Given the description of an element on the screen output the (x, y) to click on. 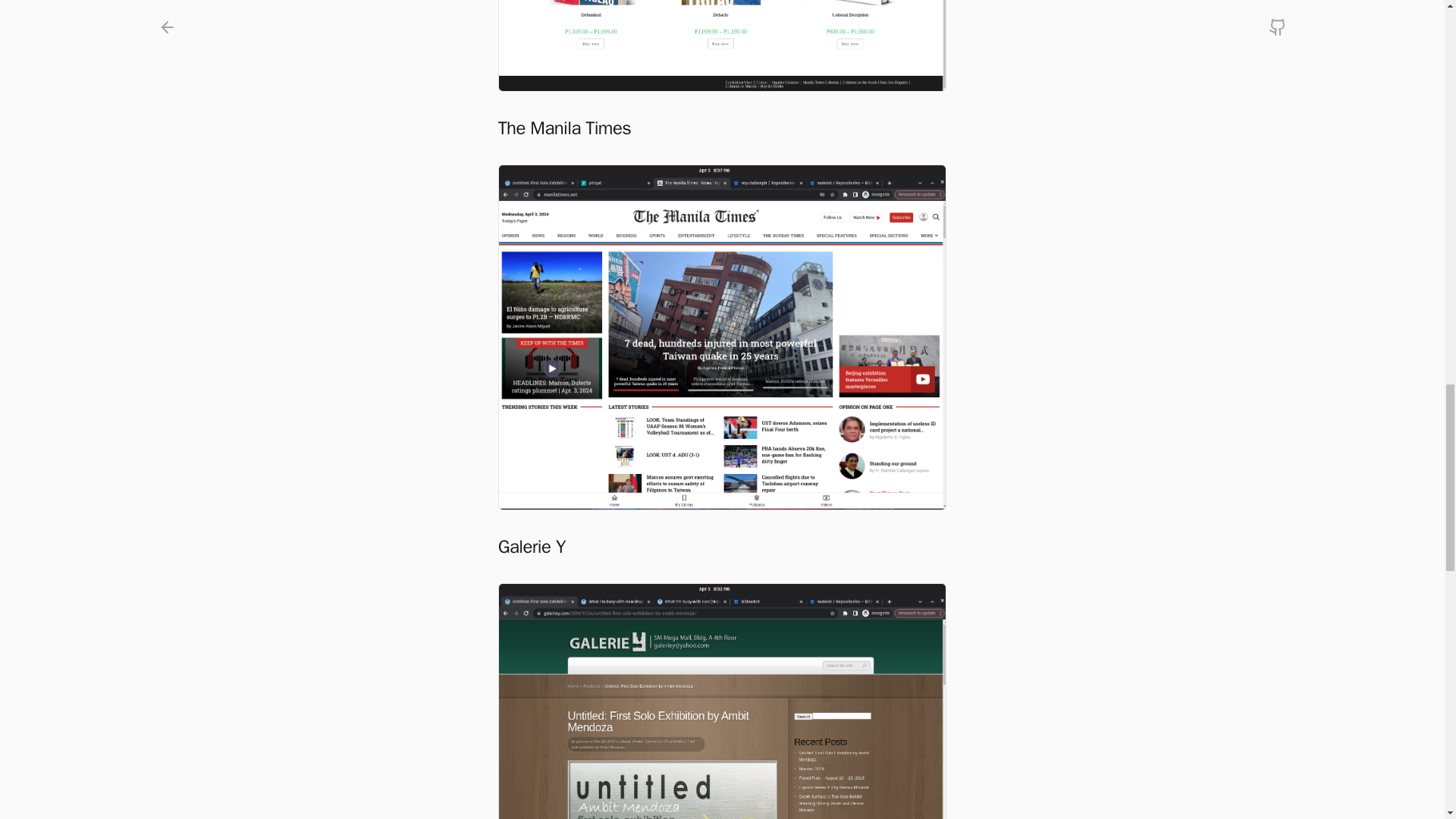
Galerie Y (722, 546)
Galerie Y (722, 701)
The Manila Times (722, 128)
Rigoberto Tiglao (722, 45)
